Given the description of an element on the screen output the (x, y) to click on. 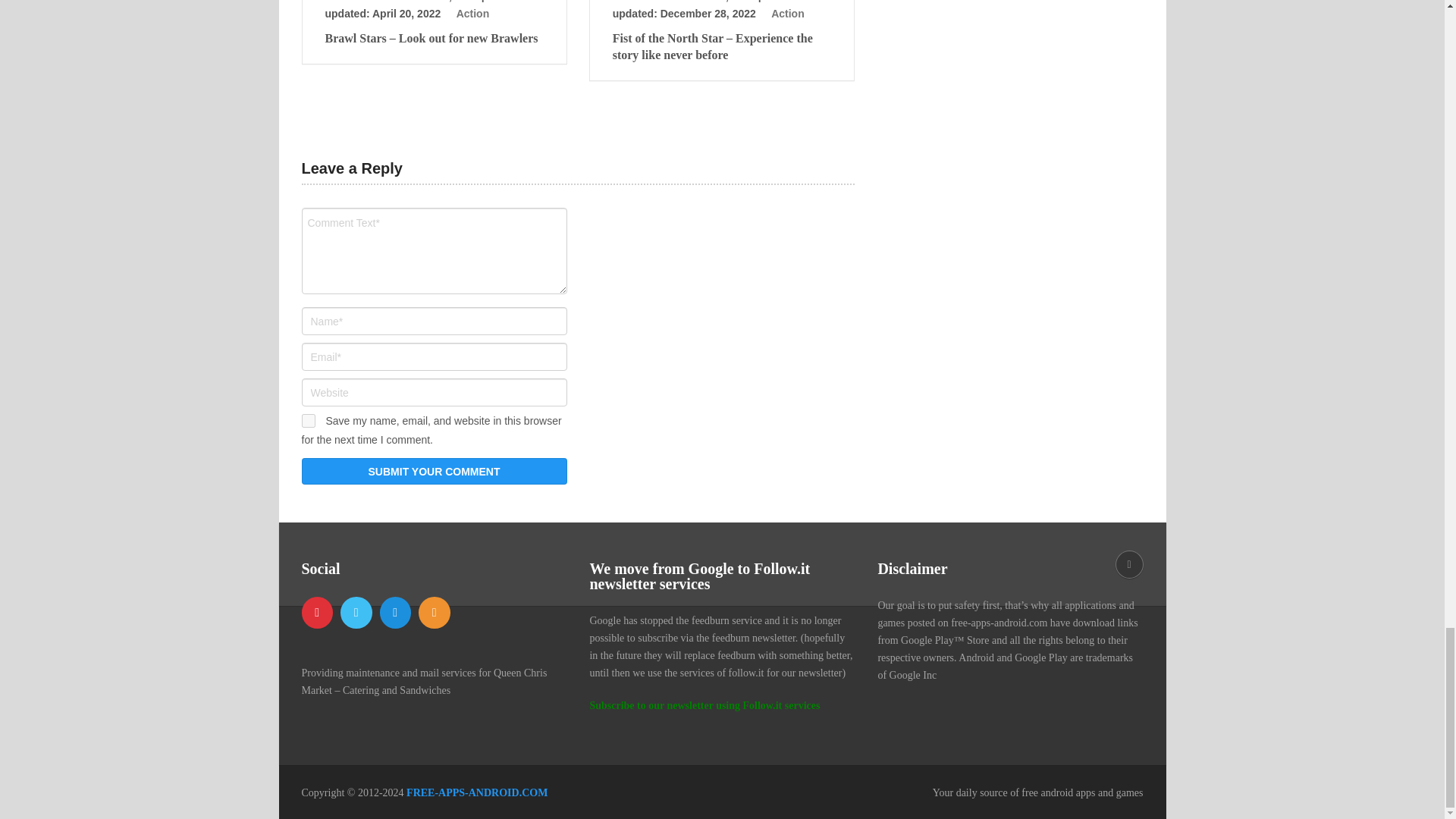
Submit Your Comment (434, 470)
View all posts in Action (788, 13)
yes (308, 420)
View all posts in Action (473, 13)
